Given the description of an element on the screen output the (x, y) to click on. 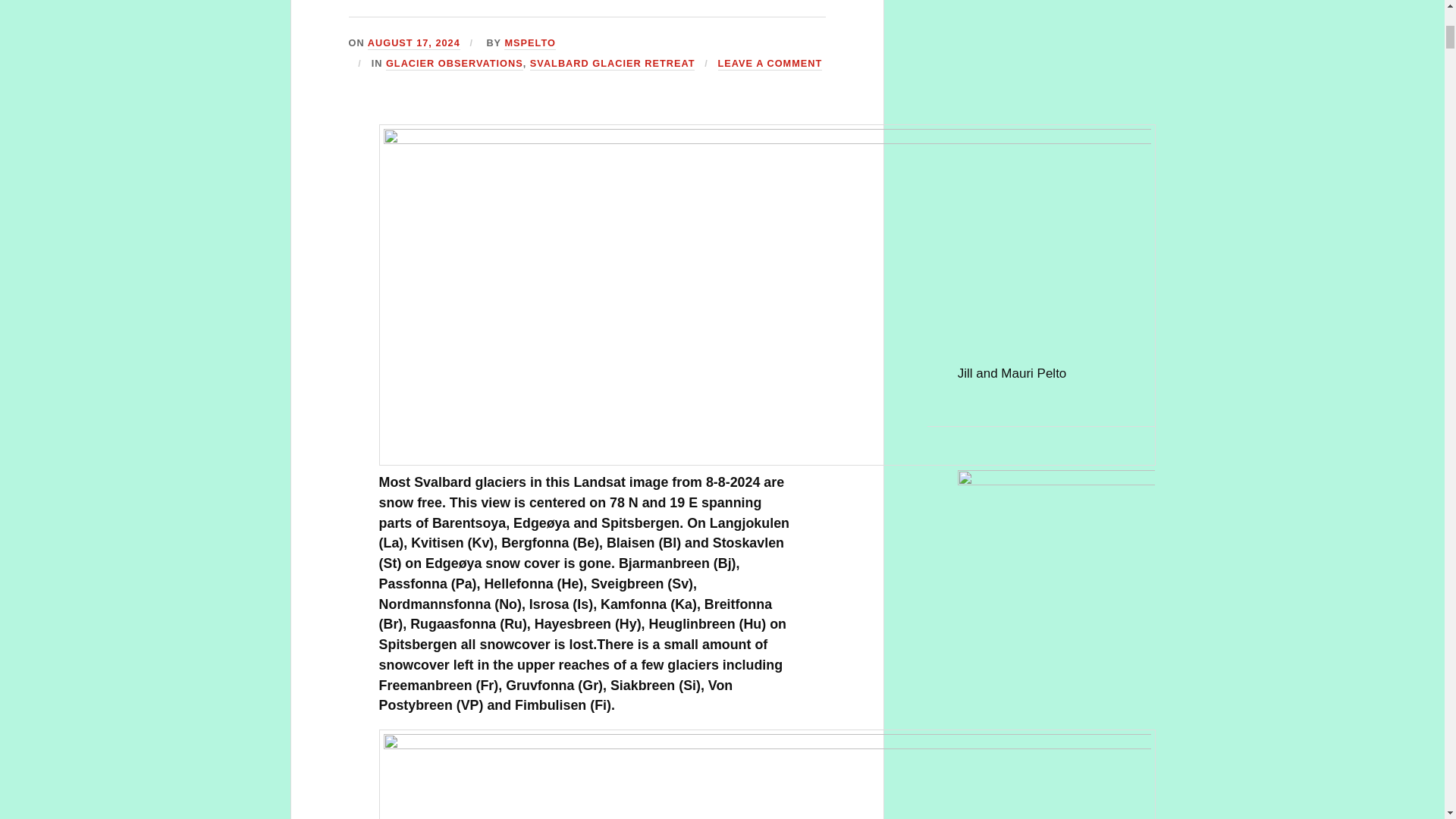
GLACIER OBSERVATIONS (453, 63)
AUGUST 17, 2024 (414, 42)
LEAVE A COMMENT (769, 63)
MSPELTO (528, 42)
SVALBARD GLACIER RETREAT (612, 63)
